Given the description of an element on the screen output the (x, y) to click on. 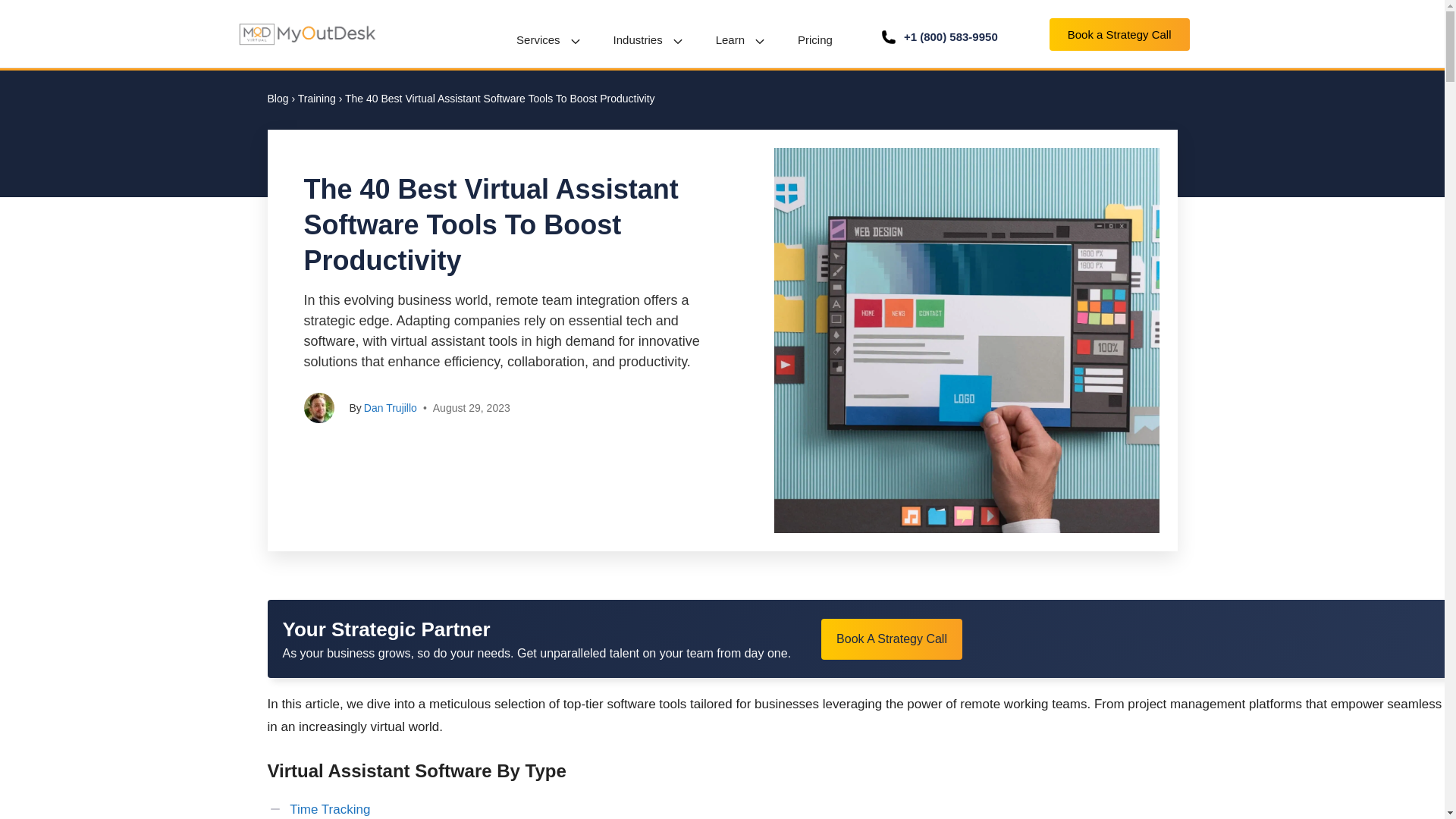
Industries (649, 41)
Services (549, 41)
Learn (741, 41)
